Given the description of an element on the screen output the (x, y) to click on. 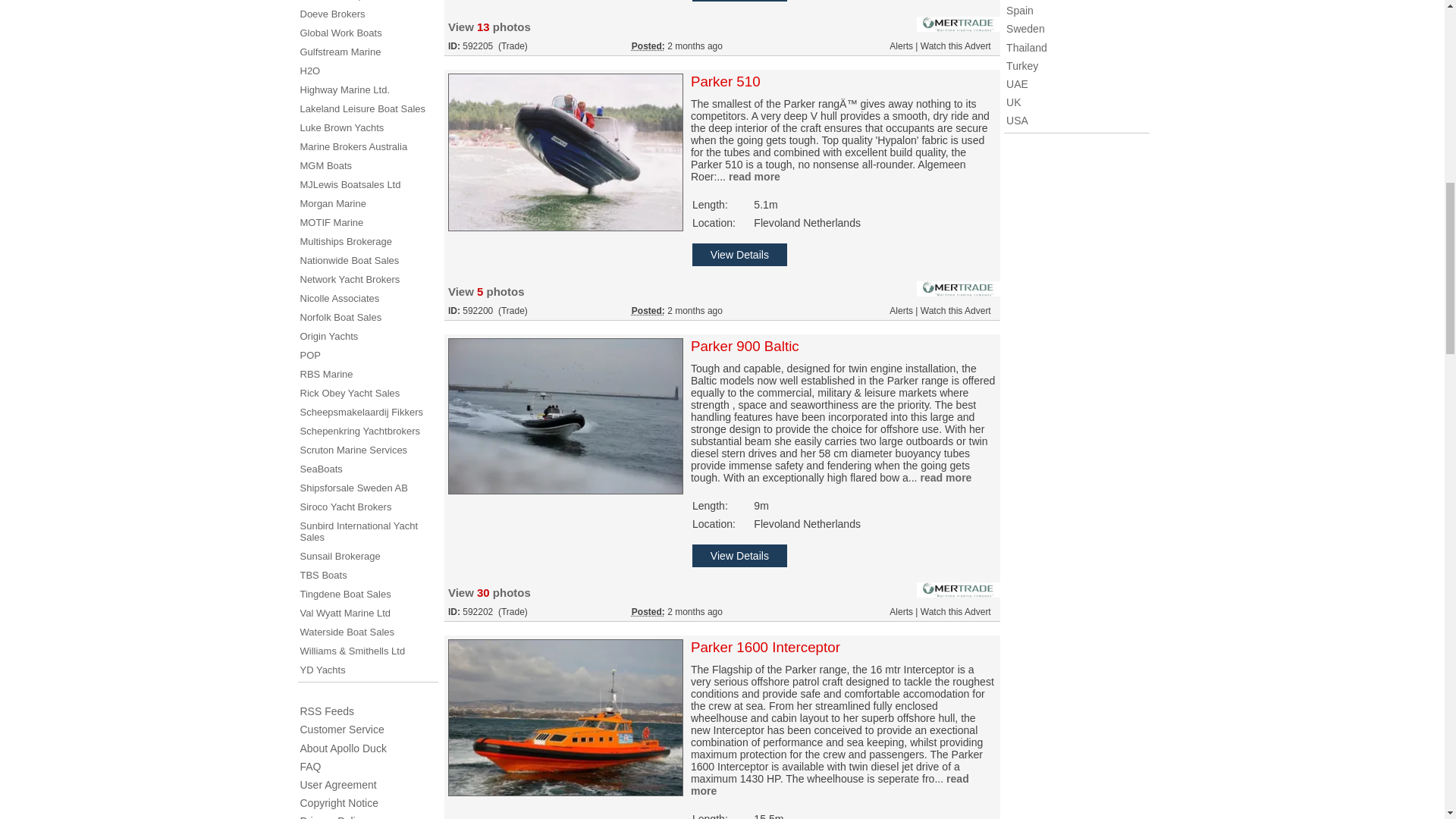
Gulfstream Marine, UK (340, 51)
Lakeland Leisure Boat Sales, UK (362, 108)
Doeve Brokers, Netherlands (332, 13)
Global Work Boats, Australia (340, 32)
H2O, France (309, 70)
Highway Marine Ltd., UK (344, 89)
